Given the description of an element on the screen output the (x, y) to click on. 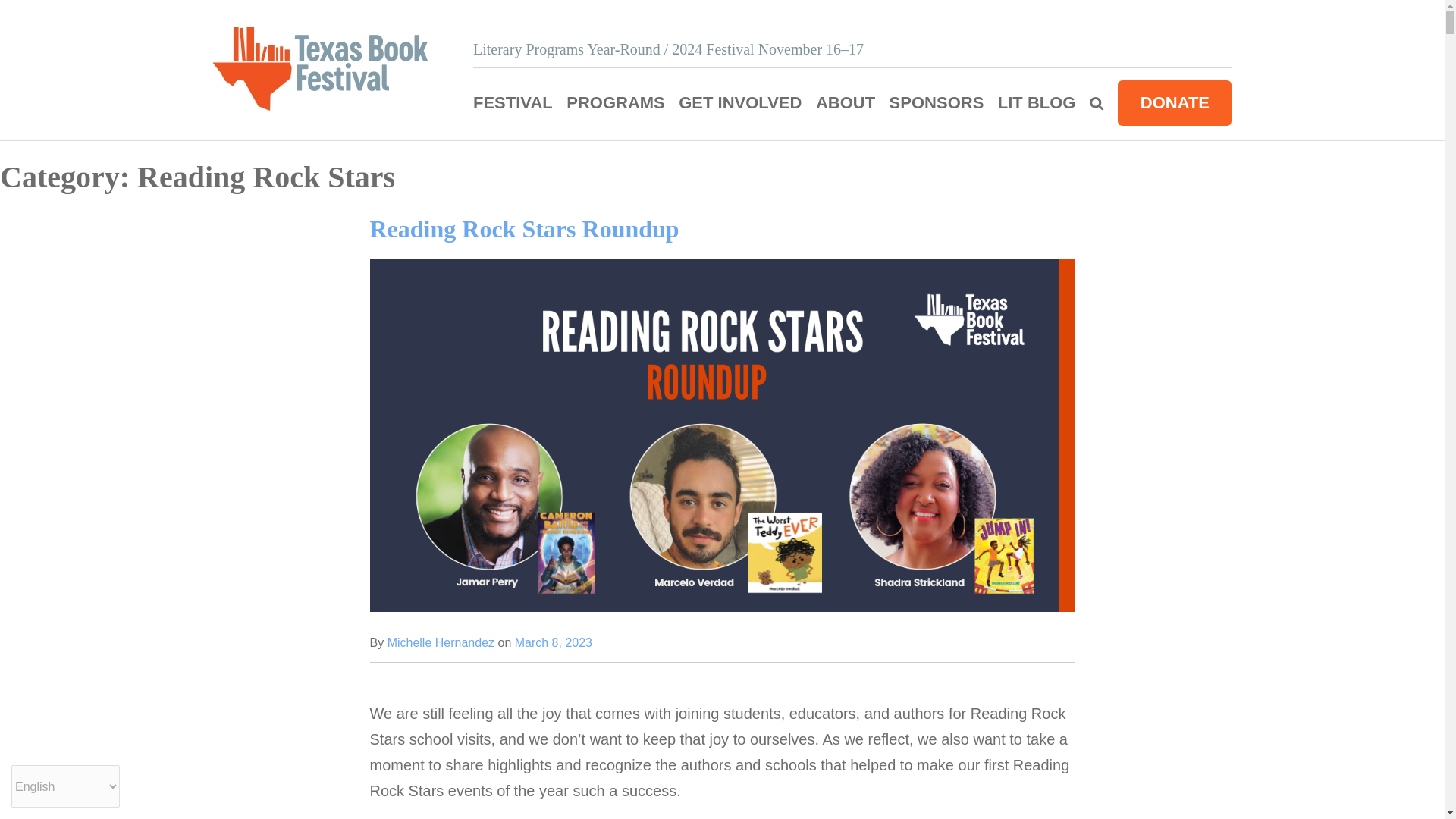
Get Involved (740, 103)
SPONSORS (936, 103)
ABOUT (845, 103)
Festival (513, 103)
S (1096, 103)
Programs (615, 103)
GET INVOLVED (740, 103)
PROGRAMS (615, 103)
FESTIVAL (513, 103)
LIT BLOG (1036, 103)
